Given the description of an element on the screen output the (x, y) to click on. 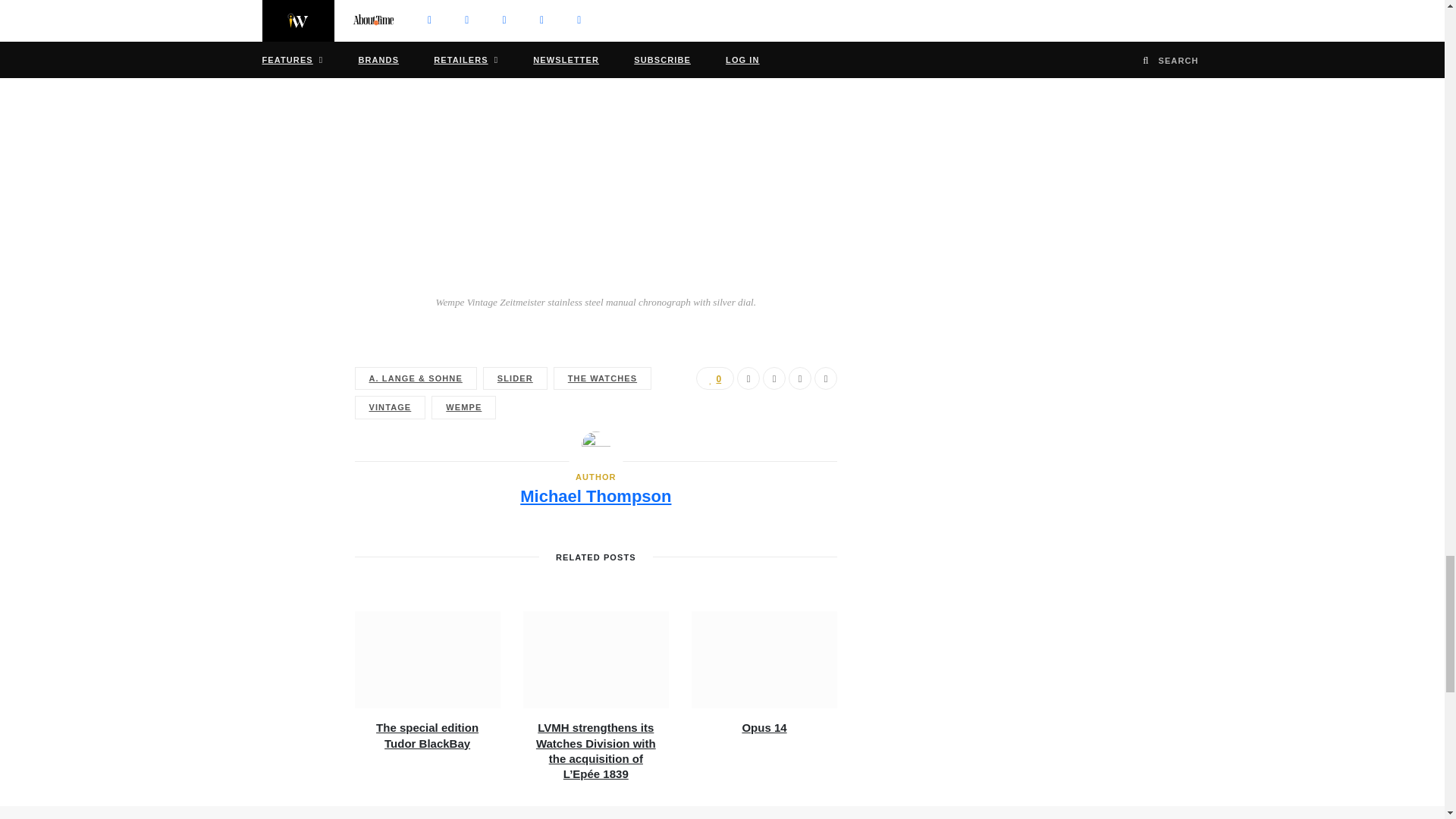
Share on Twitter (774, 377)
Posts by Michael Thompson (595, 496)
Share on Facebook (748, 377)
Pinterest (799, 377)
Email (825, 377)
